Given the description of an element on the screen output the (x, y) to click on. 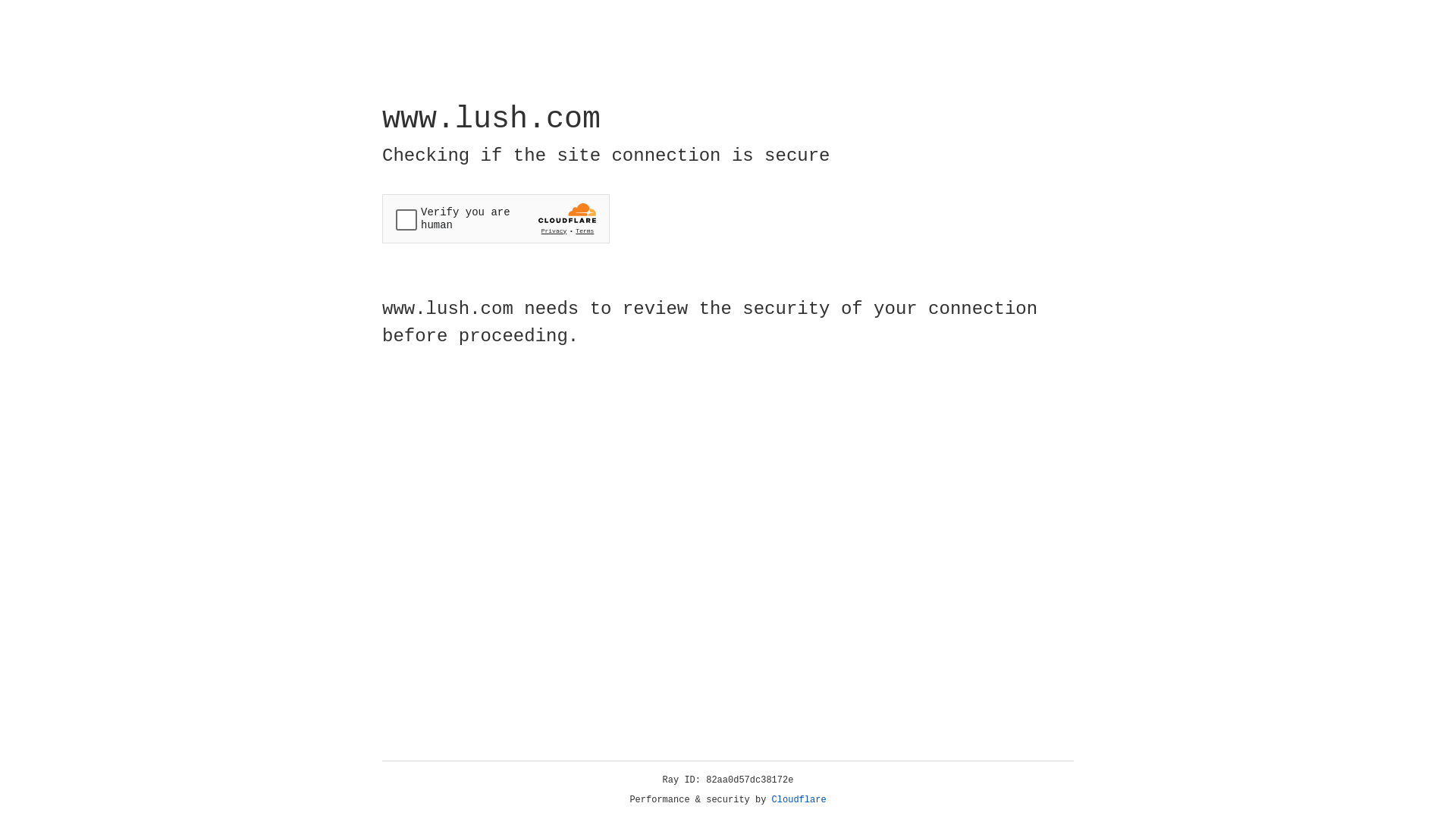
Cloudflare Element type: text (798, 799)
Widget containing a Cloudflare security challenge Element type: hover (495, 218)
